Given the description of an element on the screen output the (x, y) to click on. 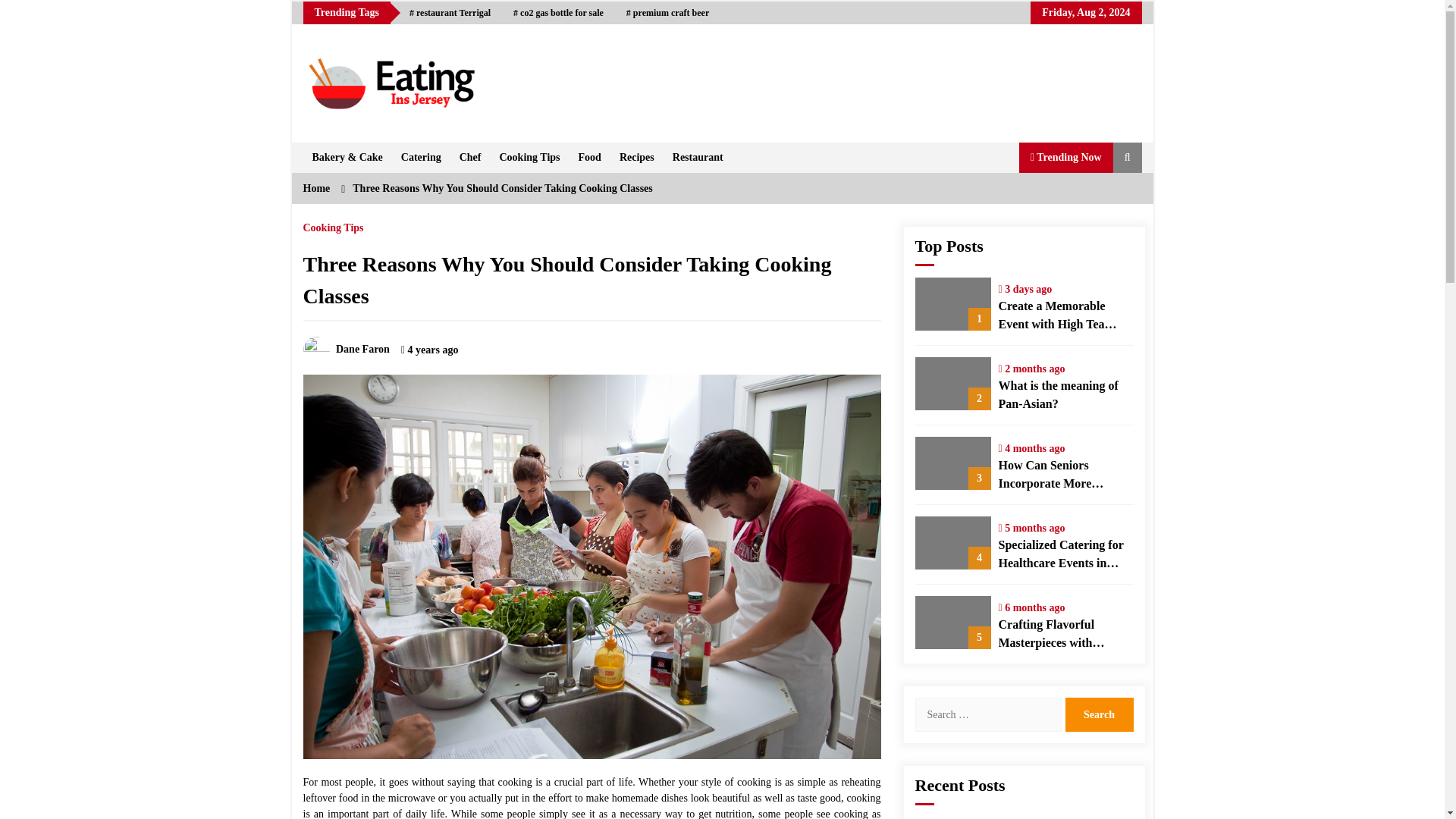
premium craft beer (667, 12)
Search (1098, 714)
Search (1098, 714)
Three Reasons Why You Should Consider Taking Cooking Classes (502, 188)
Cooking Tips (529, 157)
Food (589, 157)
Home (316, 188)
Three Reasons Why You Should Consider Taking Cooking Classes (566, 279)
Dane Faron (346, 348)
co2 gas bottle for sale (558, 12)
